Given the description of an element on the screen output the (x, y) to click on. 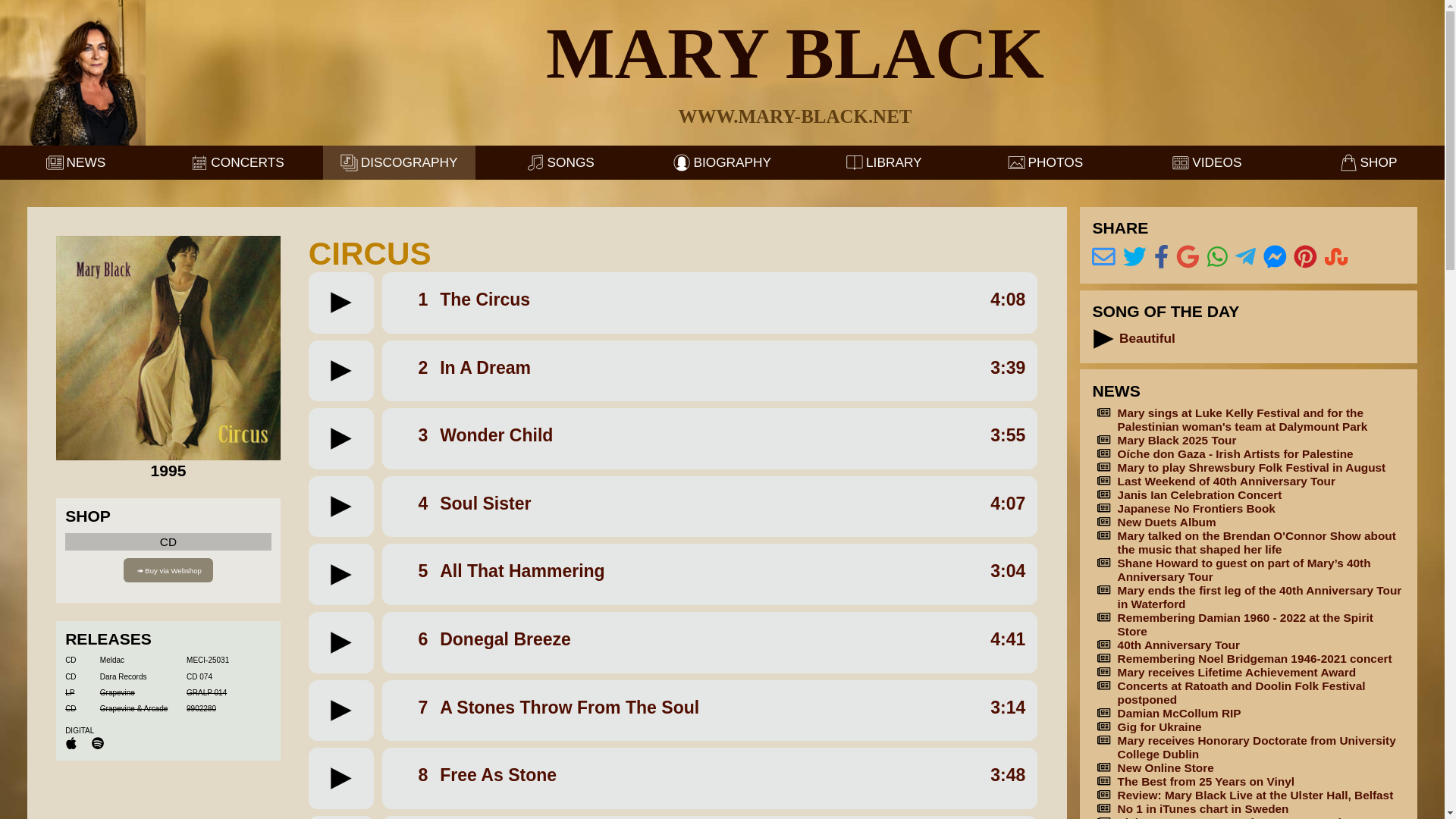
SHOP (1367, 162)
3:39 (1007, 367)
VIDEOS (1206, 162)
LIBRARY (883, 162)
Wonder Child (496, 435)
Soul Sister (485, 503)
Buy Circus via Webshop (167, 569)
SONGS (560, 162)
4:08 (1007, 299)
